Given the description of an element on the screen output the (x, y) to click on. 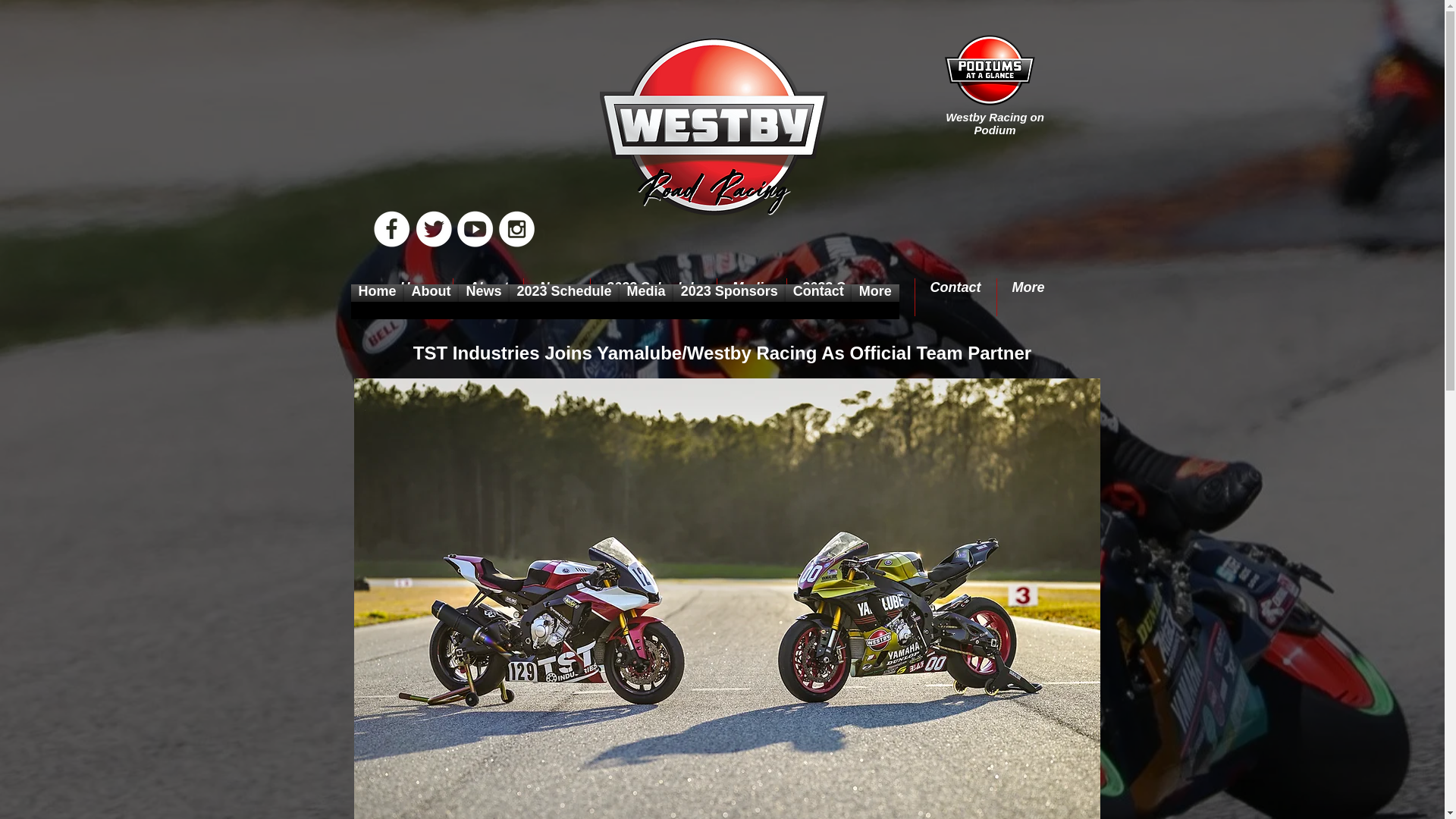
About (487, 297)
2023 Sponsors (850, 297)
2023 Schedule (653, 297)
About (431, 301)
News (483, 301)
Media (646, 301)
2023 Schedule (564, 301)
Contact (955, 297)
Home (376, 301)
Westby Racing on Podium (993, 123)
